Given the description of an element on the screen output the (x, y) to click on. 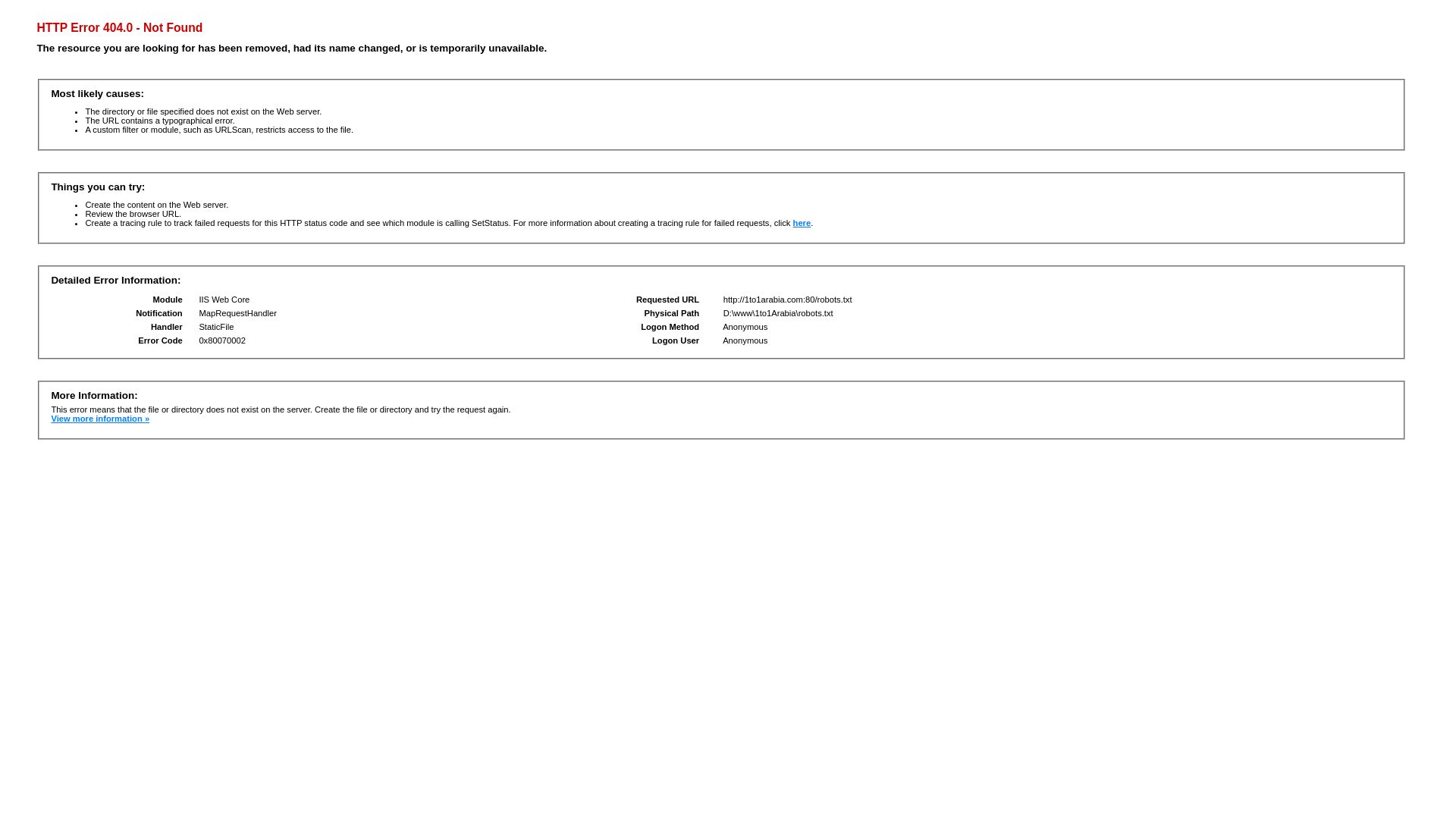
here Element type: text (802, 222)
